Given the description of an element on the screen output the (x, y) to click on. 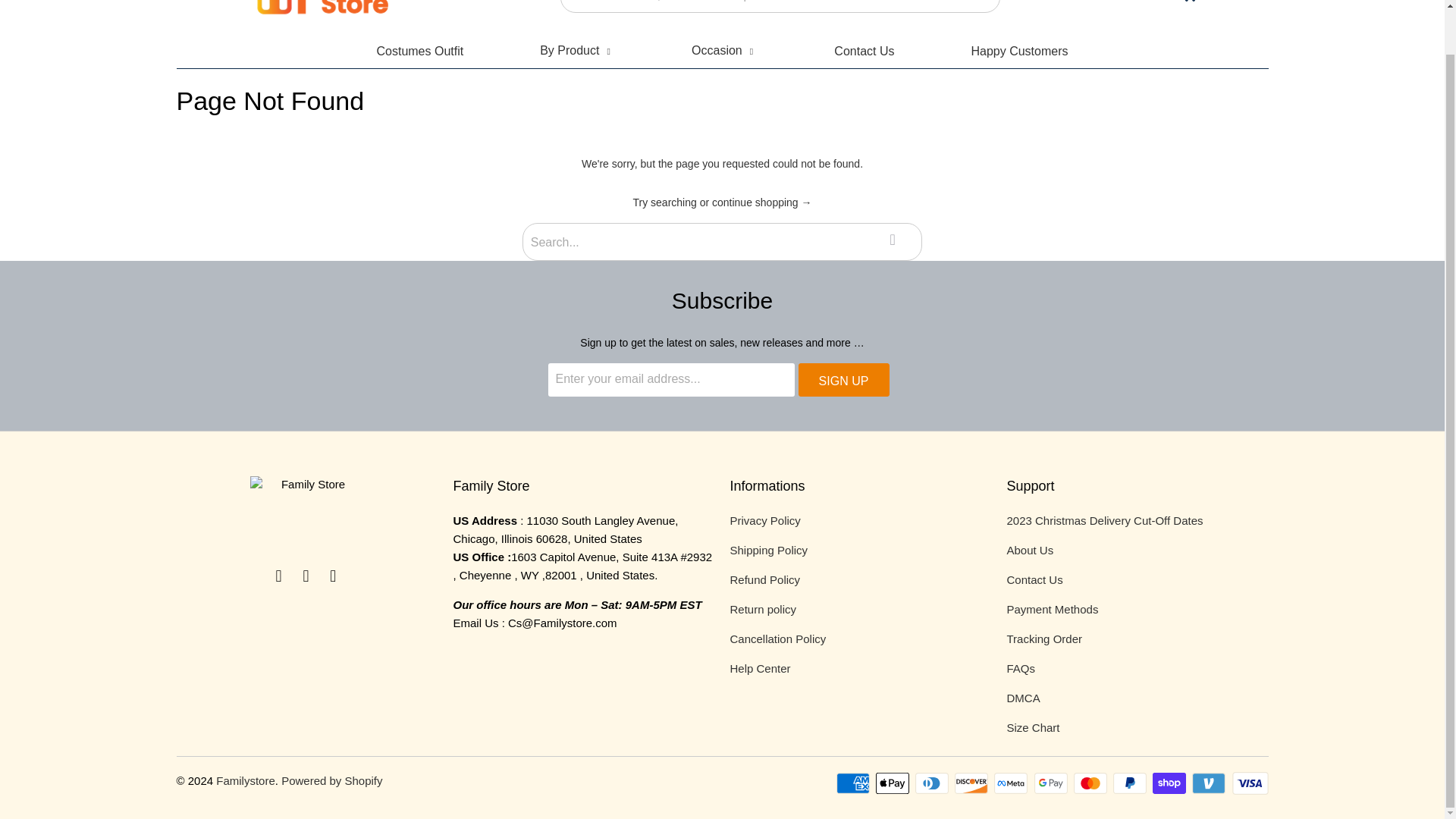
Shop Pay (1171, 783)
Familystore on Pinterest (333, 576)
Familystore (322, 15)
Apple Pay (894, 783)
Google Pay (1051, 783)
Discover (973, 783)
Costumes Outfit (419, 50)
Venmo (1210, 783)
0 (1189, 1)
Meta Pay (1012, 783)
Email Familystore (278, 576)
PayPal (1131, 783)
Familystore on Instagram (306, 576)
Diners Club (933, 783)
